Given the description of an element on the screen output the (x, y) to click on. 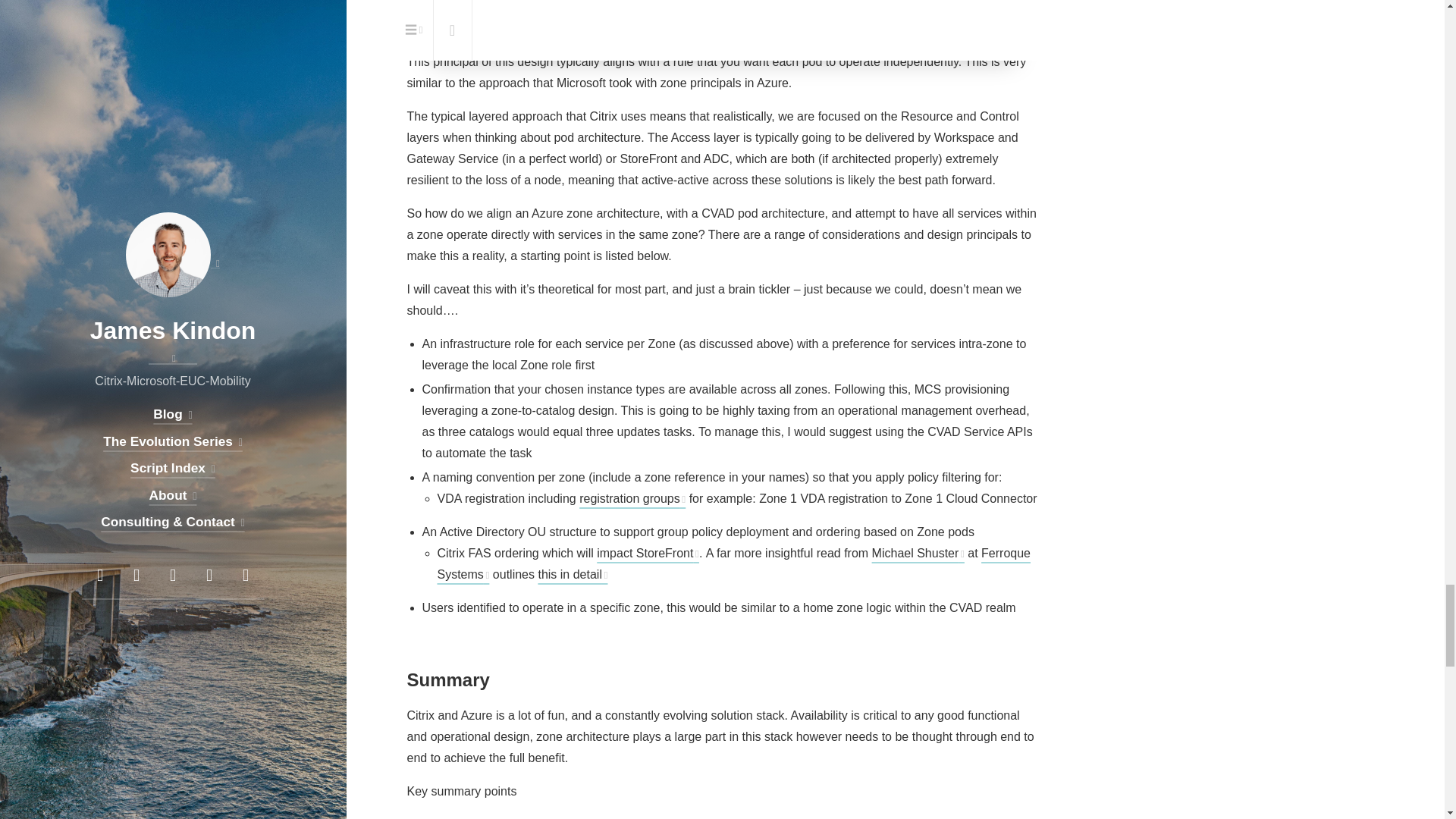
registration groups (632, 498)
Michael Shuster (917, 553)
this in detail (572, 574)
impact StoreFront (647, 553)
Ferroque Systems (733, 563)
